Given the description of an element on the screen output the (x, y) to click on. 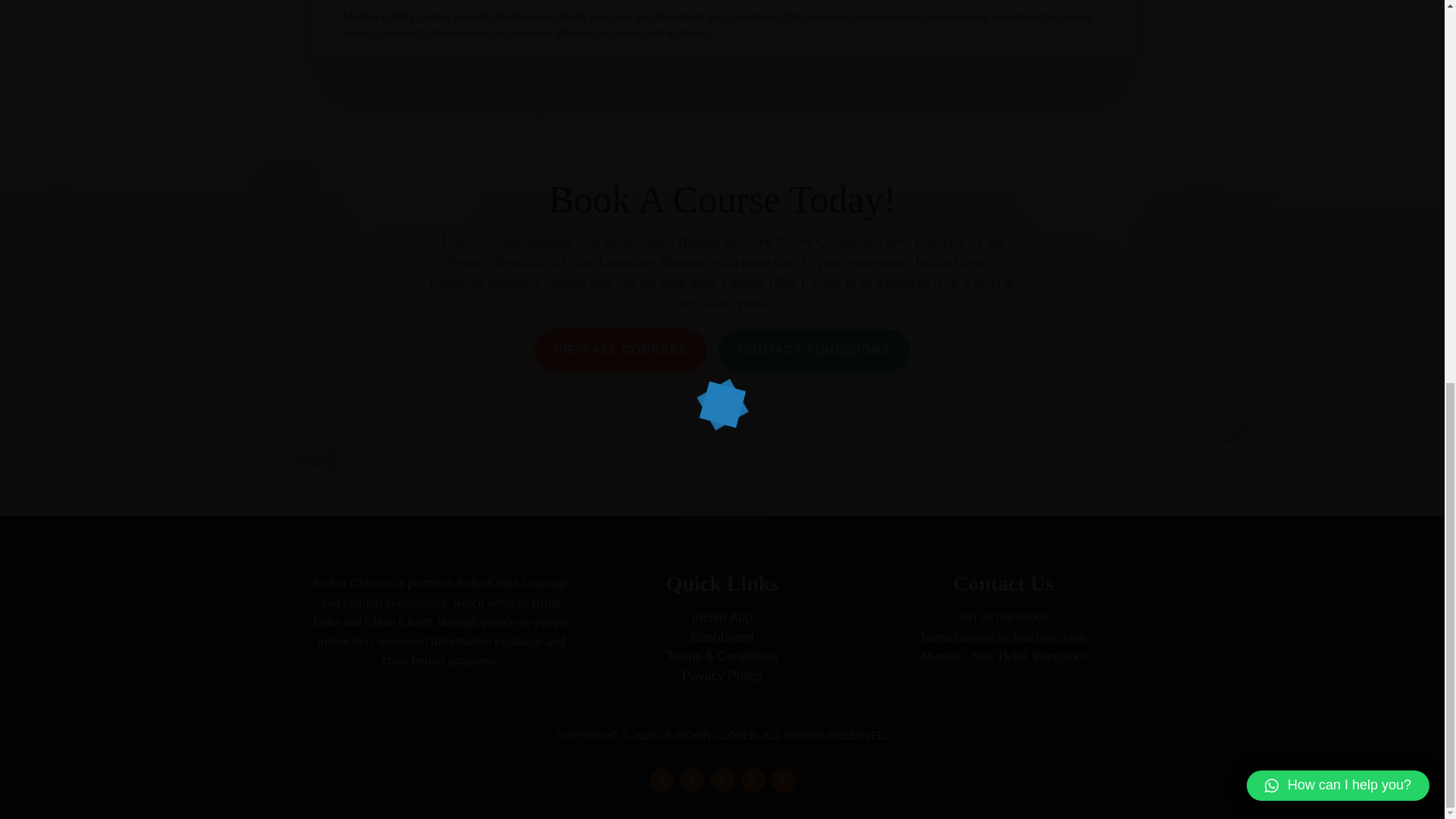
Follow on Facebook (660, 780)
Follow on LinkedIn (751, 780)
Follow on Instagram (721, 780)
Follow on Youtube (782, 780)
Follow on Twitter (691, 780)
